Given the description of an element on the screen output the (x, y) to click on. 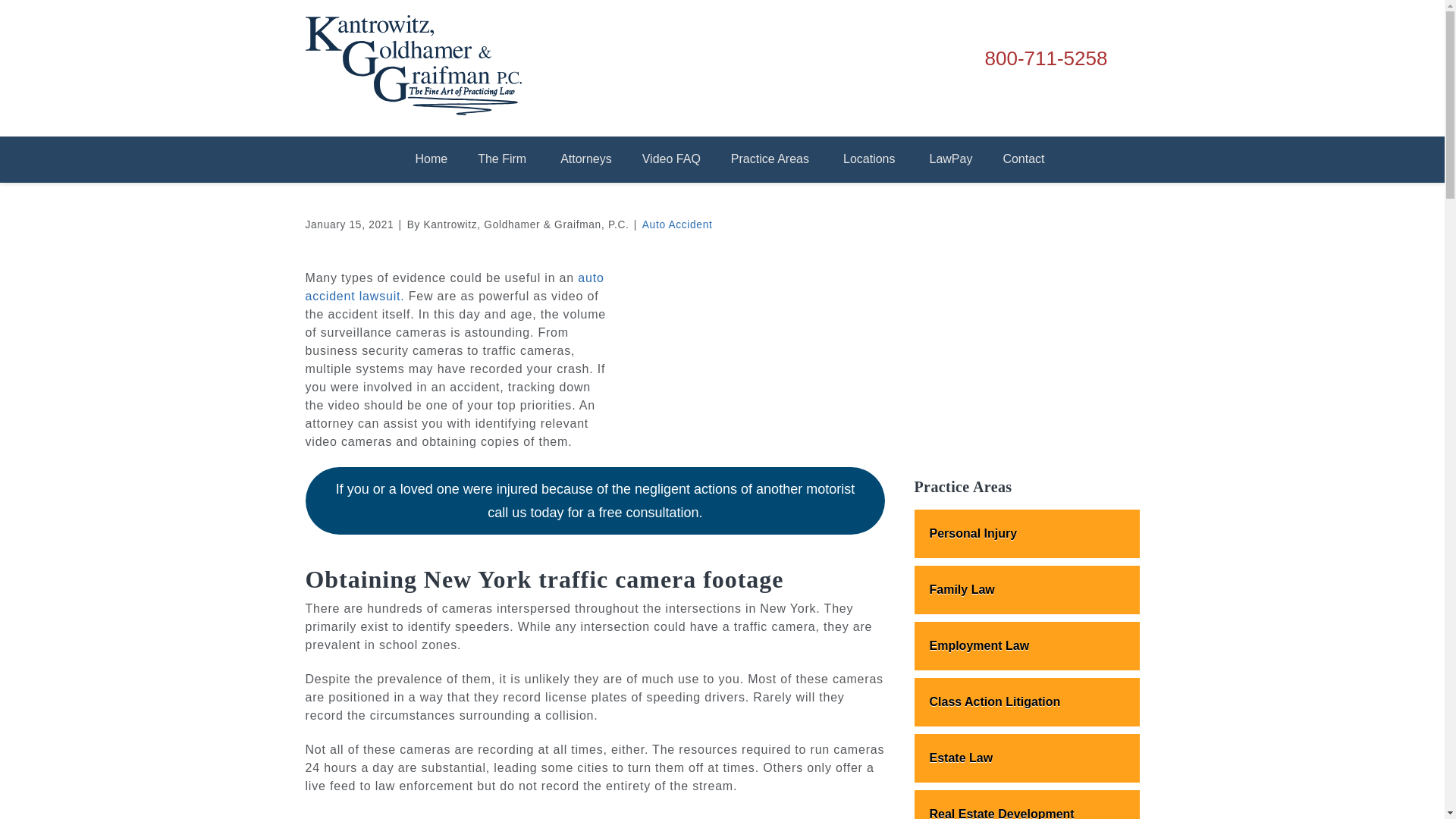
Home (430, 159)
Practice Areas (772, 159)
The Firm (503, 159)
Video FAQ (671, 159)
Attorneys (585, 159)
